Given the description of an element on the screen output the (x, y) to click on. 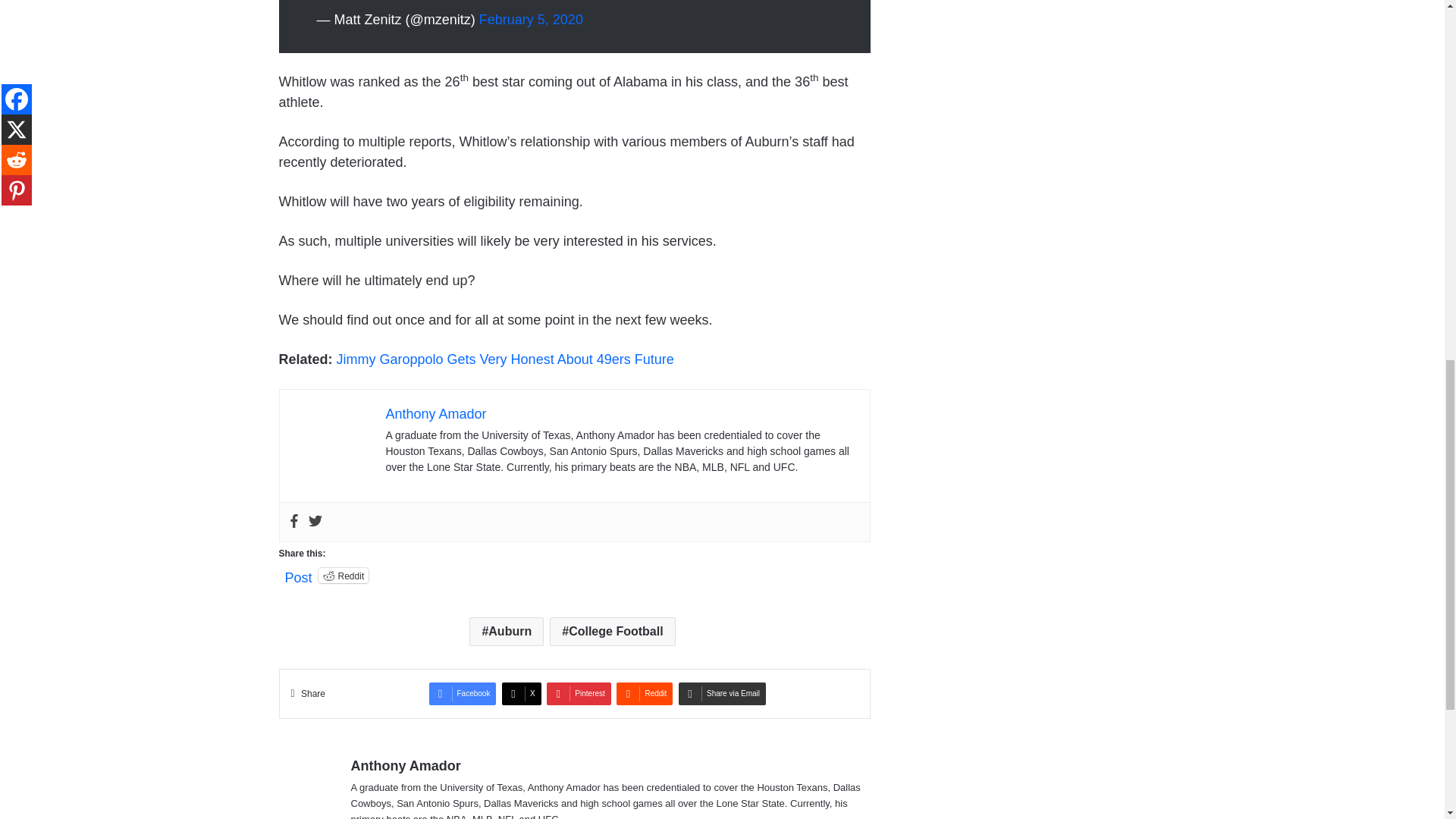
Jimmy Garoppolo Gets Very Honest About 49ers Future (505, 359)
Post (299, 574)
Jimmy Garoppolo Gets Very Honest About 49ers Future (505, 359)
Auburn (505, 631)
Anthony Amador (435, 413)
Reddit (343, 575)
February 5, 2020 (531, 19)
